Given the description of an element on the screen output the (x, y) to click on. 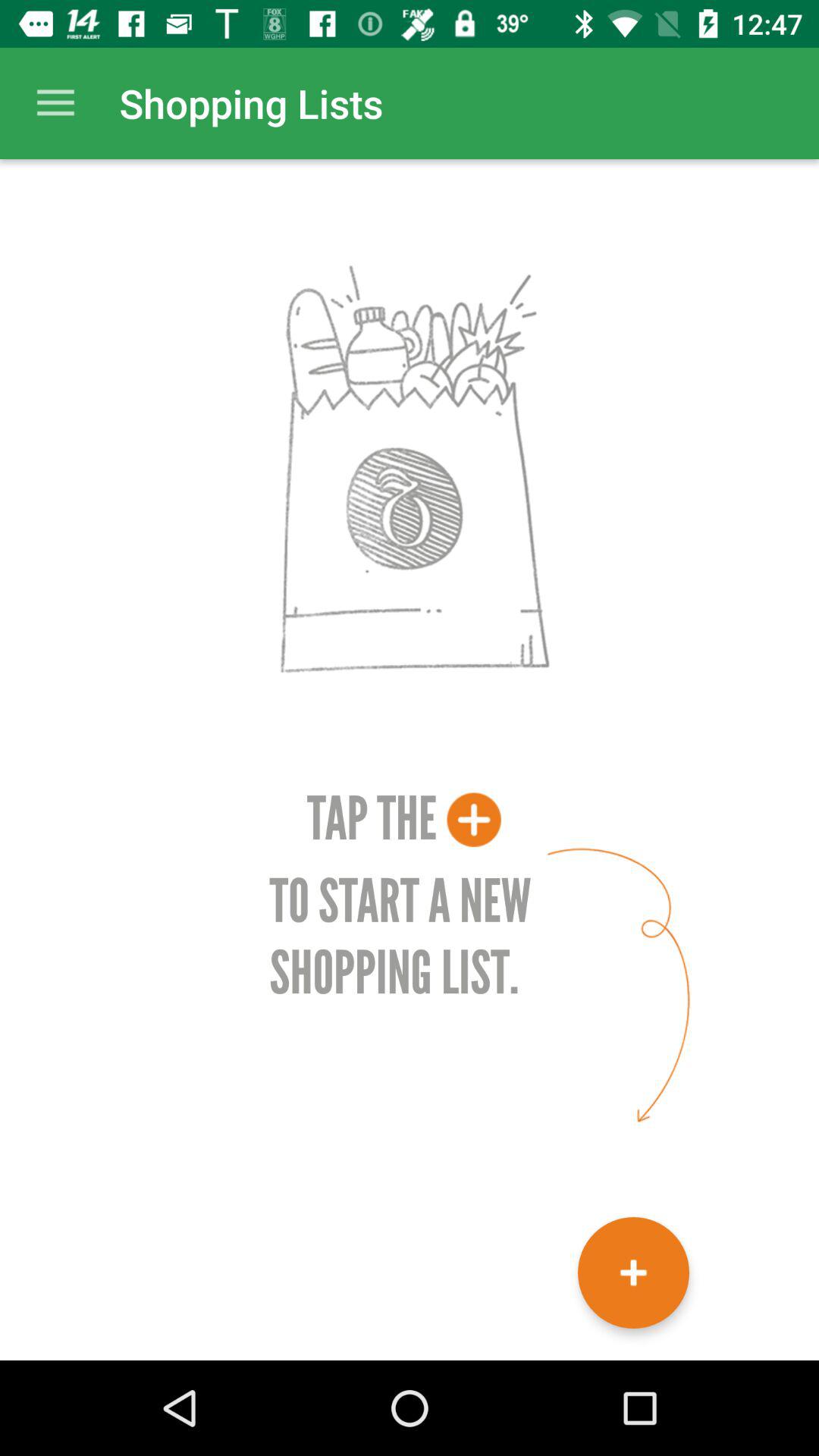
start new shopping list (633, 1272)
